Given the description of an element on the screen output the (x, y) to click on. 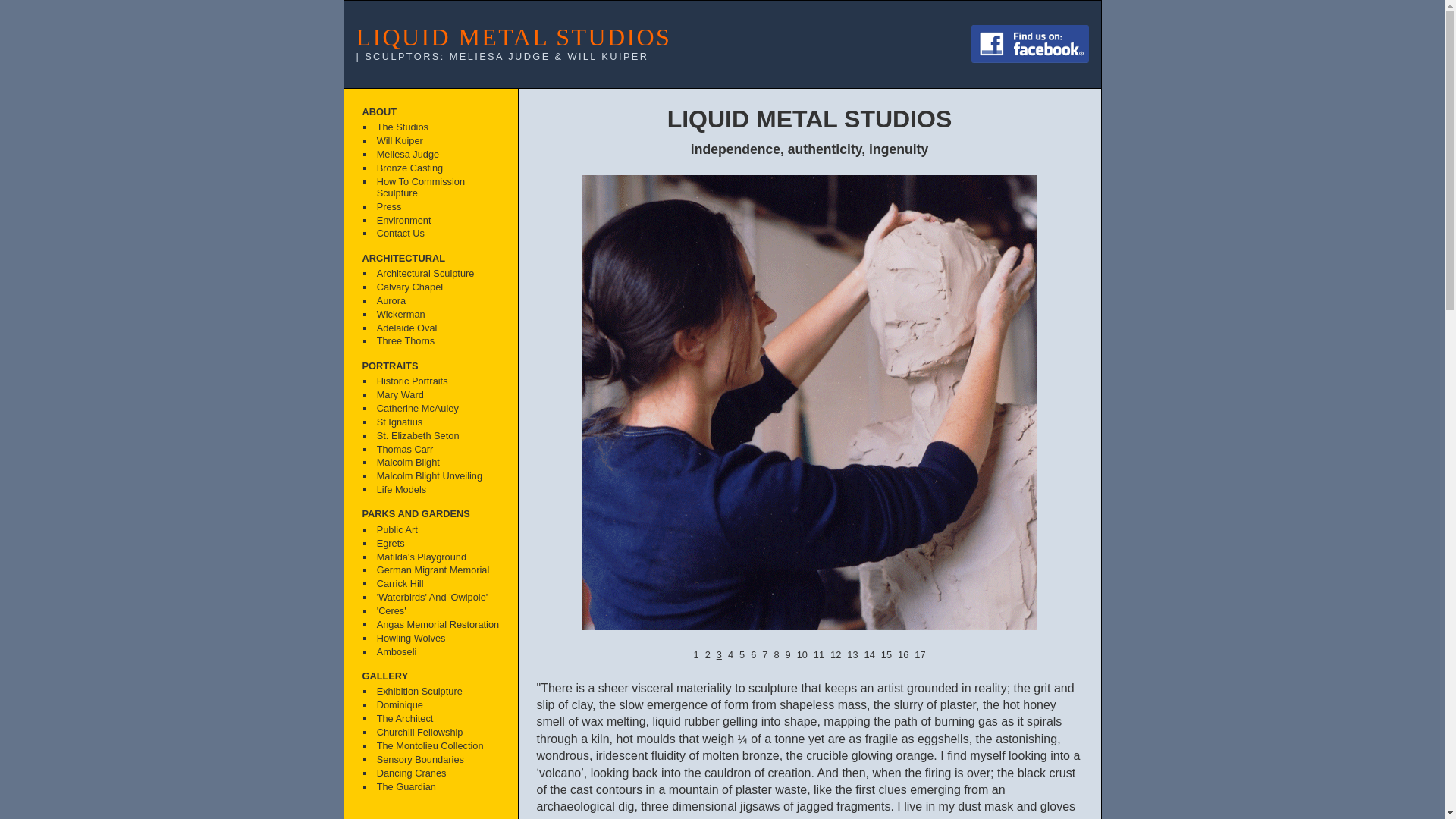
LIQUID METAL STUDIOS Element type: text (513, 36)
Historic Portraits Element type: text (436, 381)
5 Element type: text (741, 655)
Dancing Cranes Element type: text (436, 773)
Adelaide Oval Element type: text (436, 328)
The Guardian Element type: text (436, 786)
Public Art Element type: text (436, 529)
6 Element type: text (753, 655)
Angas Memorial Restoration Element type: text (436, 624)
Malcolm Blight Unveiling Element type: text (436, 476)
German Migrant Memorial Element type: text (436, 570)
Egrets Element type: text (436, 543)
The Architect Element type: text (436, 719)
10 Element type: text (802, 655)
8 Element type: text (775, 655)
Amboseli Element type: text (436, 651)
12 Element type: text (835, 655)
7 Element type: text (764, 655)
15 Element type: text (886, 655)
1 Element type: text (695, 655)
Mary Ward Element type: text (436, 394)
St. Elizabeth Seton Element type: text (436, 435)
Environment Element type: text (436, 220)
Contact Us Element type: text (436, 234)
13 Element type: text (852, 655)
3 Element type: text (718, 655)
Meliesa Judge Element type: text (436, 155)
Sensory Boundaries Element type: text (436, 759)
Malcolm Blight Element type: text (436, 463)
How To Commission Sculpture Element type: text (436, 187)
11 Element type: text (818, 655)
Thomas Carr Element type: text (436, 449)
St Ignatius Element type: text (436, 422)
4 Element type: text (730, 655)
17 Element type: text (919, 655)
Calvary Chapel Element type: text (436, 287)
Catherine McAuley Element type: text (436, 408)
Will Kuiper Element type: text (436, 141)
9 Element type: text (787, 655)
Exhibition Sculpture Element type: text (436, 692)
Churchill Fellowship Element type: text (436, 732)
'Waterbirds' And 'Owlpole' Element type: text (436, 598)
2 Element type: text (707, 655)
'Ceres' Element type: text (436, 611)
Aurora Element type: text (436, 300)
Howling Wolves Element type: text (436, 638)
Bronze Casting Element type: text (436, 168)
Carrick Hill Element type: text (436, 584)
14 Element type: text (869, 655)
The Montolieu Collection Element type: text (436, 746)
Press Element type: text (436, 206)
Three Thorns Element type: text (436, 341)
Wickerman Element type: text (436, 314)
Architectural Sculpture Element type: text (436, 273)
Dominique Element type: text (436, 705)
16 Element type: text (902, 655)
The Studios Element type: text (436, 127)
Life Models Element type: text (436, 490)
Matilda'S Playground Element type: text (436, 557)
